Given the description of an element on the screen output the (x, y) to click on. 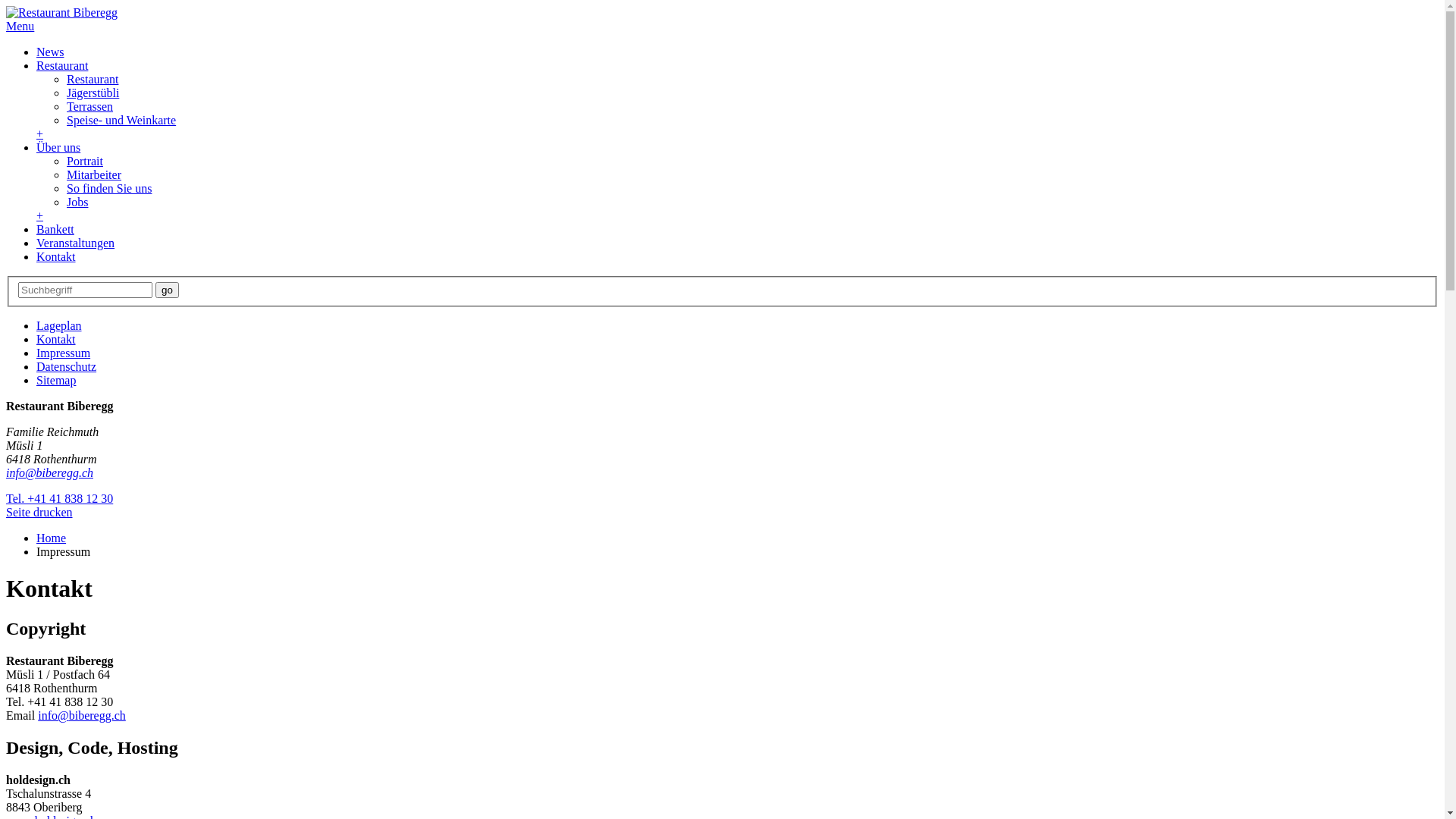
go Element type: text (166, 290)
Restaurant Element type: text (92, 78)
Datenschutz Element type: text (66, 366)
Seite drucken Element type: text (39, 511)
Kontakt Element type: text (55, 338)
Restaurant Element type: text (61, 65)
Impressum Element type: text (63, 352)
So finden Sie uns Element type: text (108, 188)
Jobs Element type: text (76, 201)
News Element type: text (49, 51)
info@biberegg.ch Element type: text (49, 472)
Lageplan Element type: text (58, 325)
Tel. +41 41 838 12 30 Element type: text (59, 498)
Restaurant Biberegg Element type: hover (61, 12)
Veranstaltungen Element type: text (75, 242)
Portrait Element type: text (84, 160)
Menu Element type: text (20, 25)
Terrassen Element type: text (89, 106)
info@biberegg.ch Element type: text (81, 715)
+ Element type: text (39, 133)
Mitarbeiter Element type: text (93, 174)
Speise- und Weinkarte Element type: text (120, 119)
Home Element type: text (50, 537)
Bankett Element type: text (55, 228)
Kontakt Element type: text (55, 256)
+ Element type: text (39, 215)
Sitemap Element type: text (55, 379)
